Given the description of an element on the screen output the (x, y) to click on. 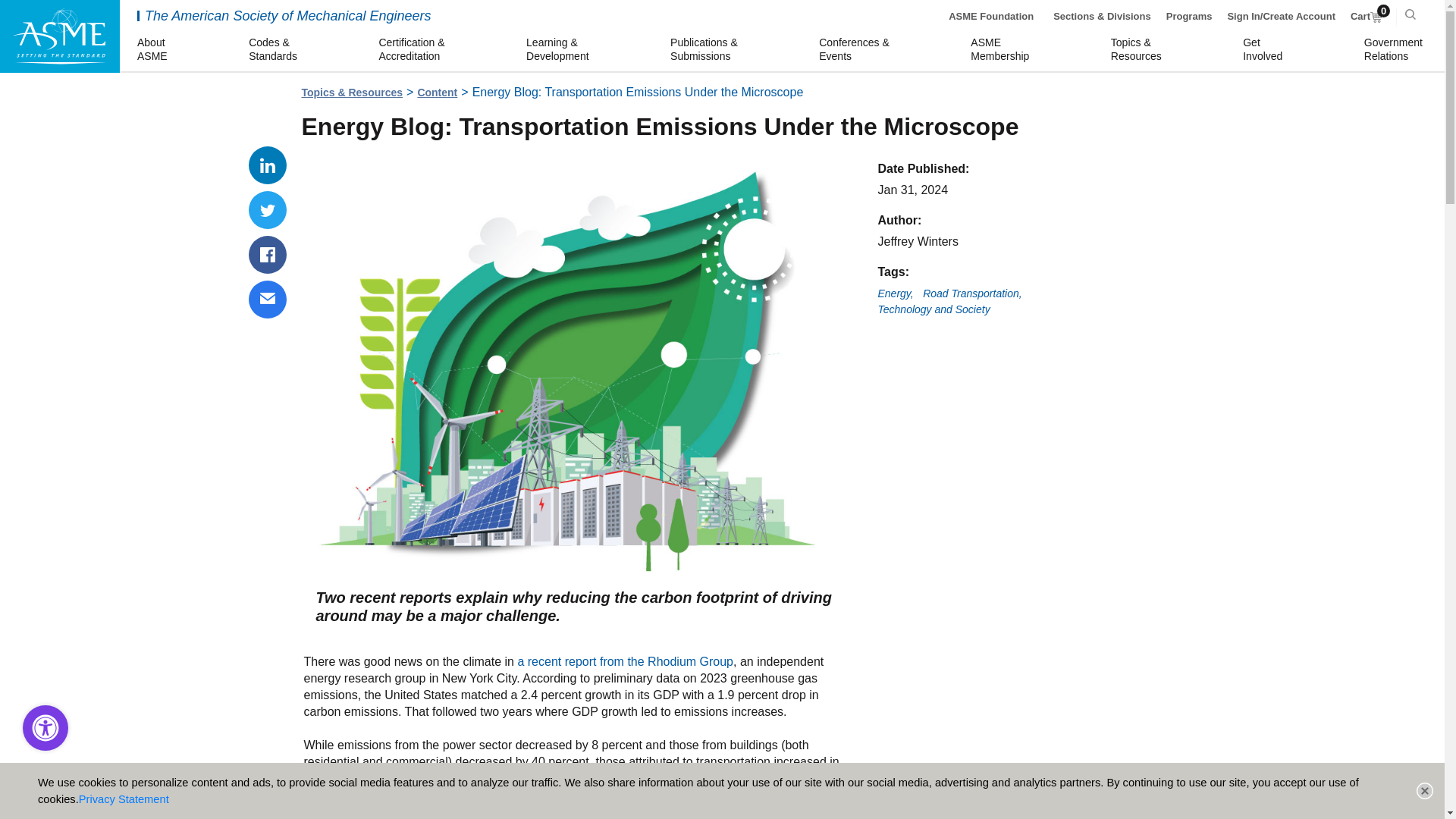
Share on LinkedIn (1395, 49)
Road Transportation (267, 165)
Programs (972, 293)
Content (1189, 16)
Share on Facebook (1366, 16)
ASME Foundation (1002, 49)
a recent report from the Rhodium Group (436, 92)
Share via email (267, 254)
Share on Twitter (991, 16)
ASME (624, 661)
Technology and Society (267, 299)
Close Banner (267, 209)
